Given the description of an element on the screen output the (x, y) to click on. 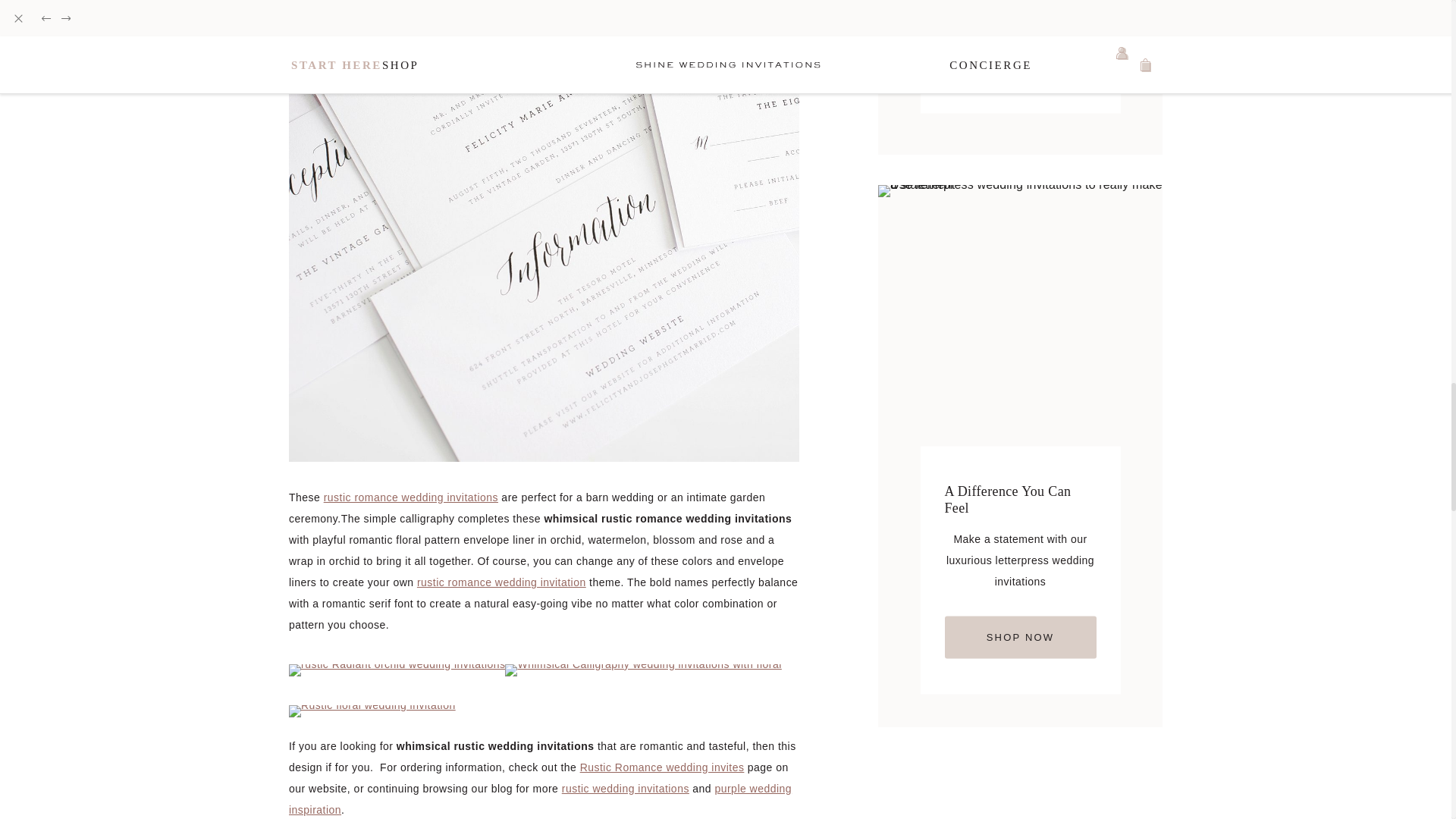
rustic romance wedding invitation (501, 582)
purple wedding inspiration (540, 798)
Rustic Romance wedding invites (661, 767)
Purple Wedding Inspiration (540, 798)
rustic romance wedding invitations (410, 497)
Rustic Romance Wedding Invites  (661, 767)
Rustic Romance Wedding Invitation (501, 582)
rustic wedding invitations (625, 788)
Rustic Wedding Inspiration (625, 788)
Rustic Romance Wedding Invitations (410, 497)
